Given the description of an element on the screen output the (x, y) to click on. 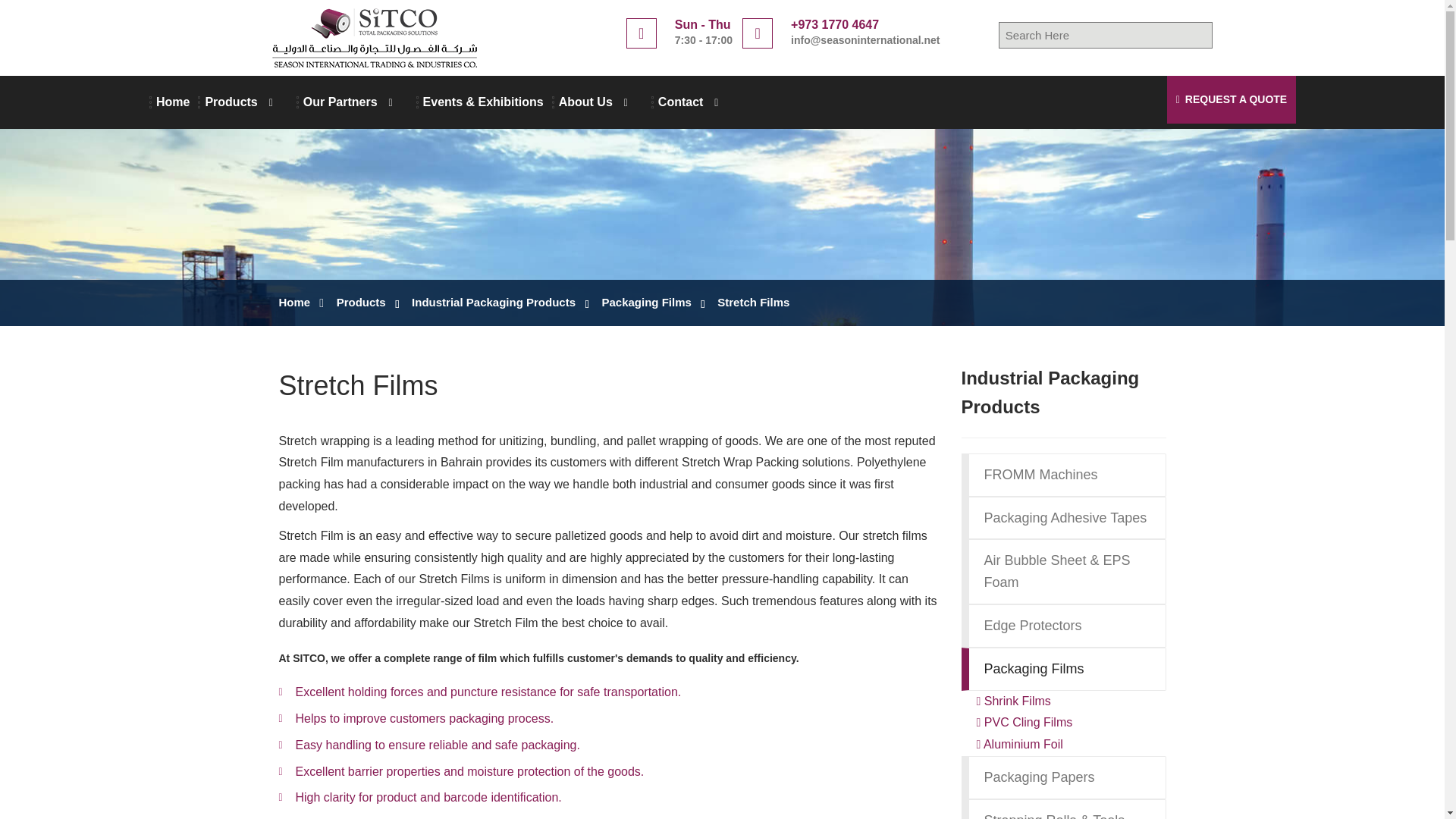
SITCO (372, 37)
Products (245, 102)
Home (172, 102)
